Given the description of an element on the screen output the (x, y) to click on. 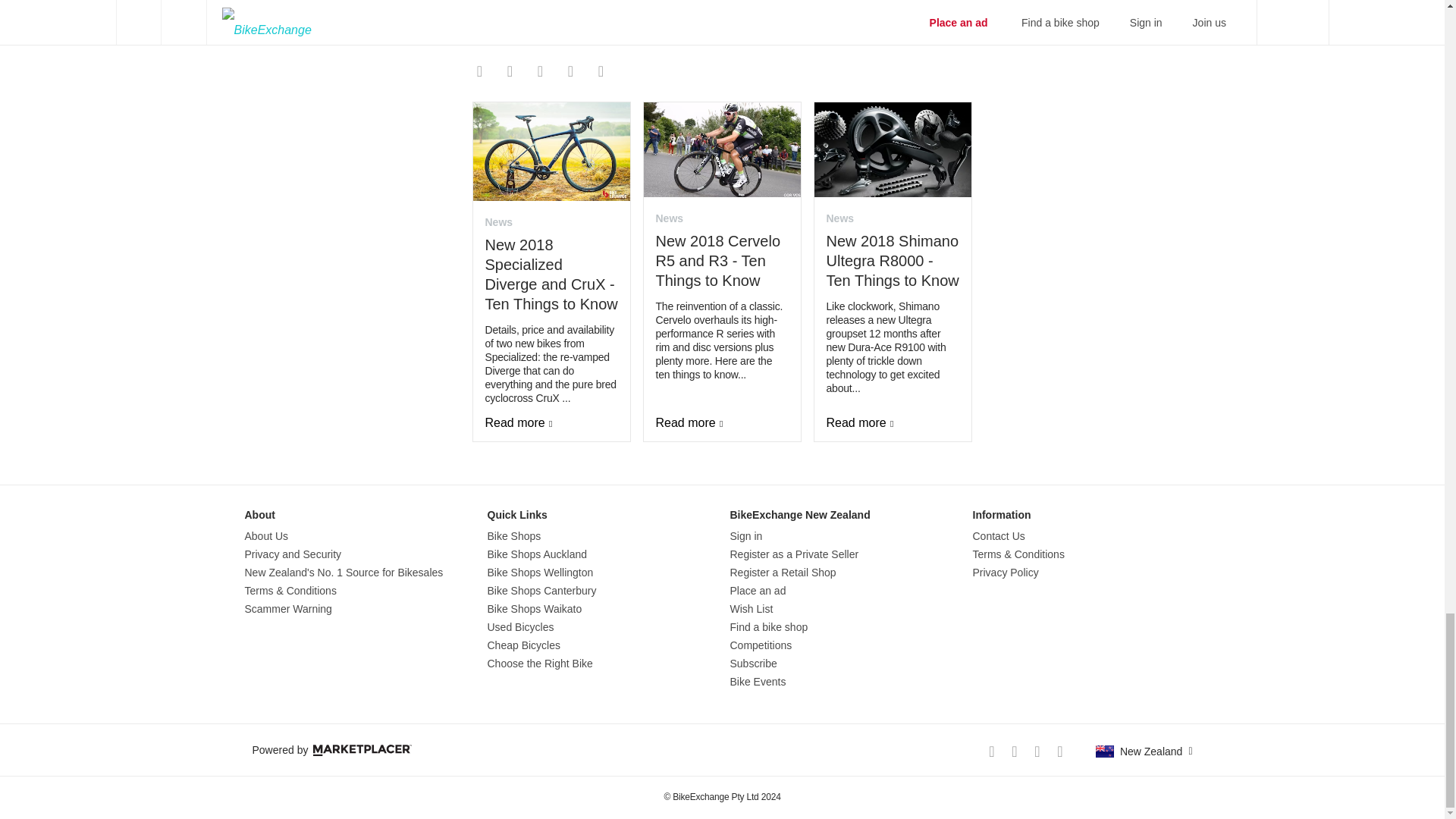
Share on Twitter (509, 71)
Marketplacer, www.marketplacer.com (362, 749)
Email to Friend (539, 71)
Share on Linked In (600, 71)
Share on facebook (479, 71)
Share on Pinterest (569, 71)
